Given the description of an element on the screen output the (x, y) to click on. 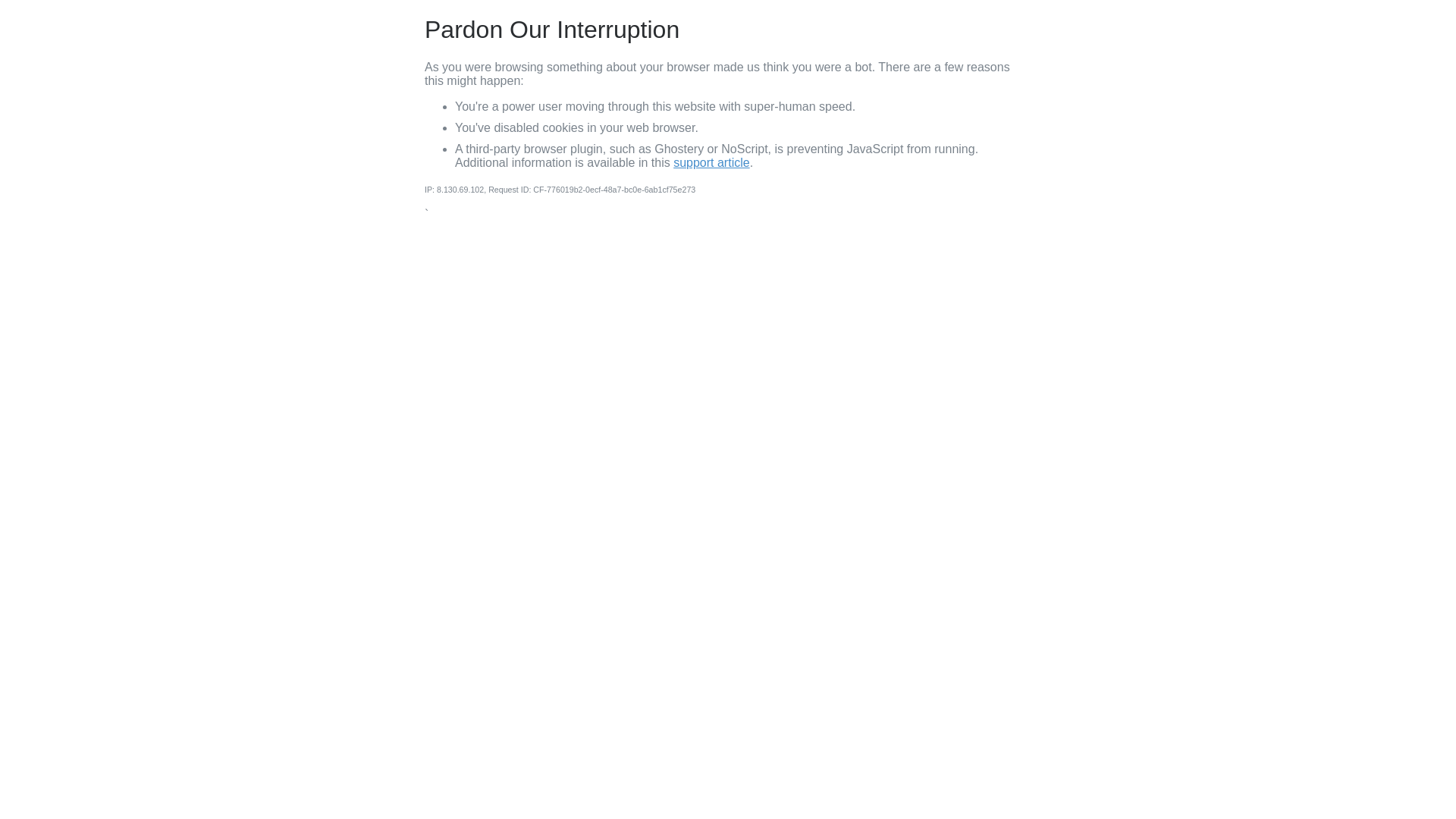
support article Element type: text (711, 162)
